Given the description of an element on the screen output the (x, y) to click on. 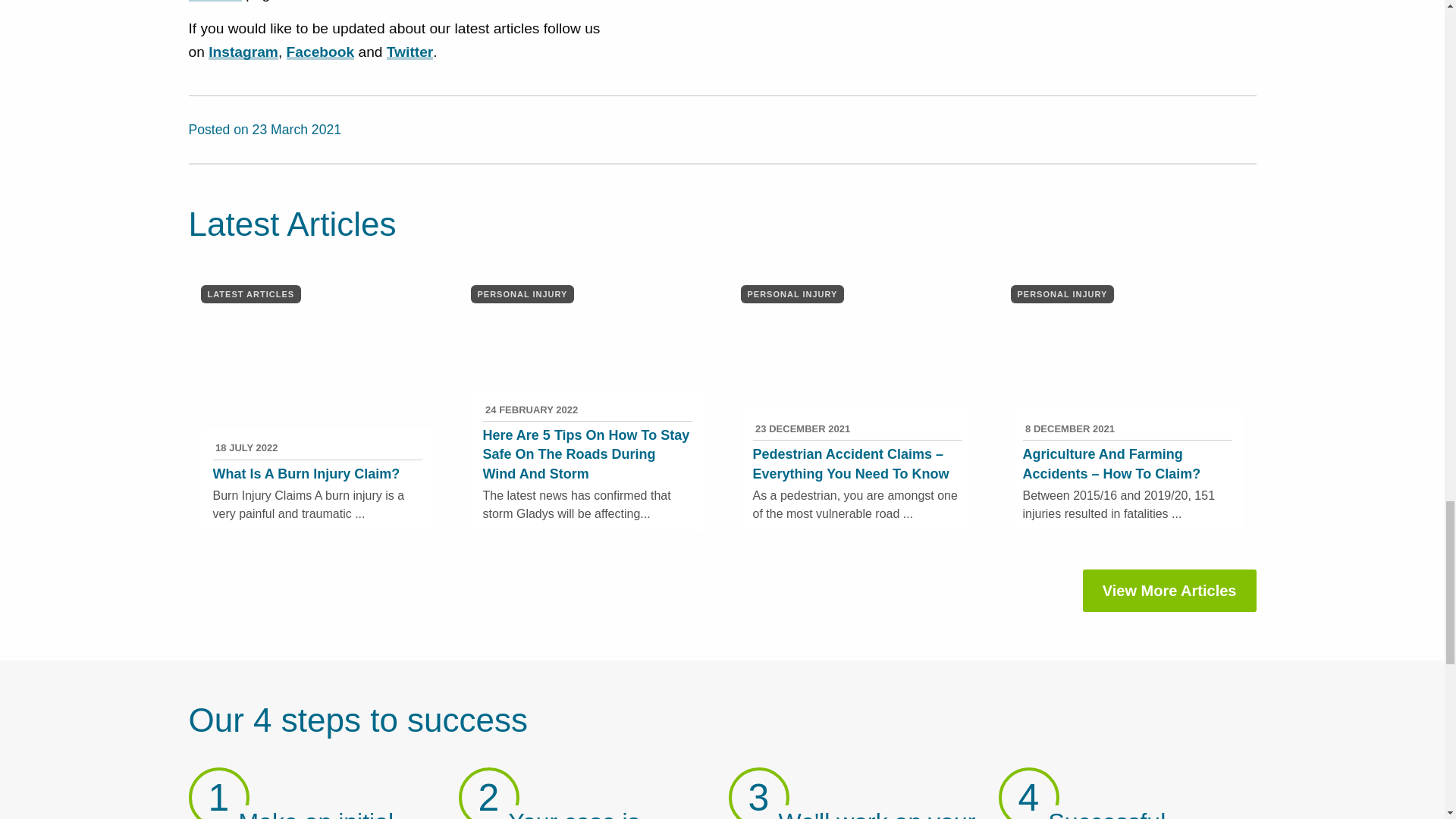
WhatsApp (1246, 124)
Facebook (1222, 124)
LinkedIn (1240, 124)
Email (1234, 124)
Twitter (1228, 124)
